Given the description of an element on the screen output the (x, y) to click on. 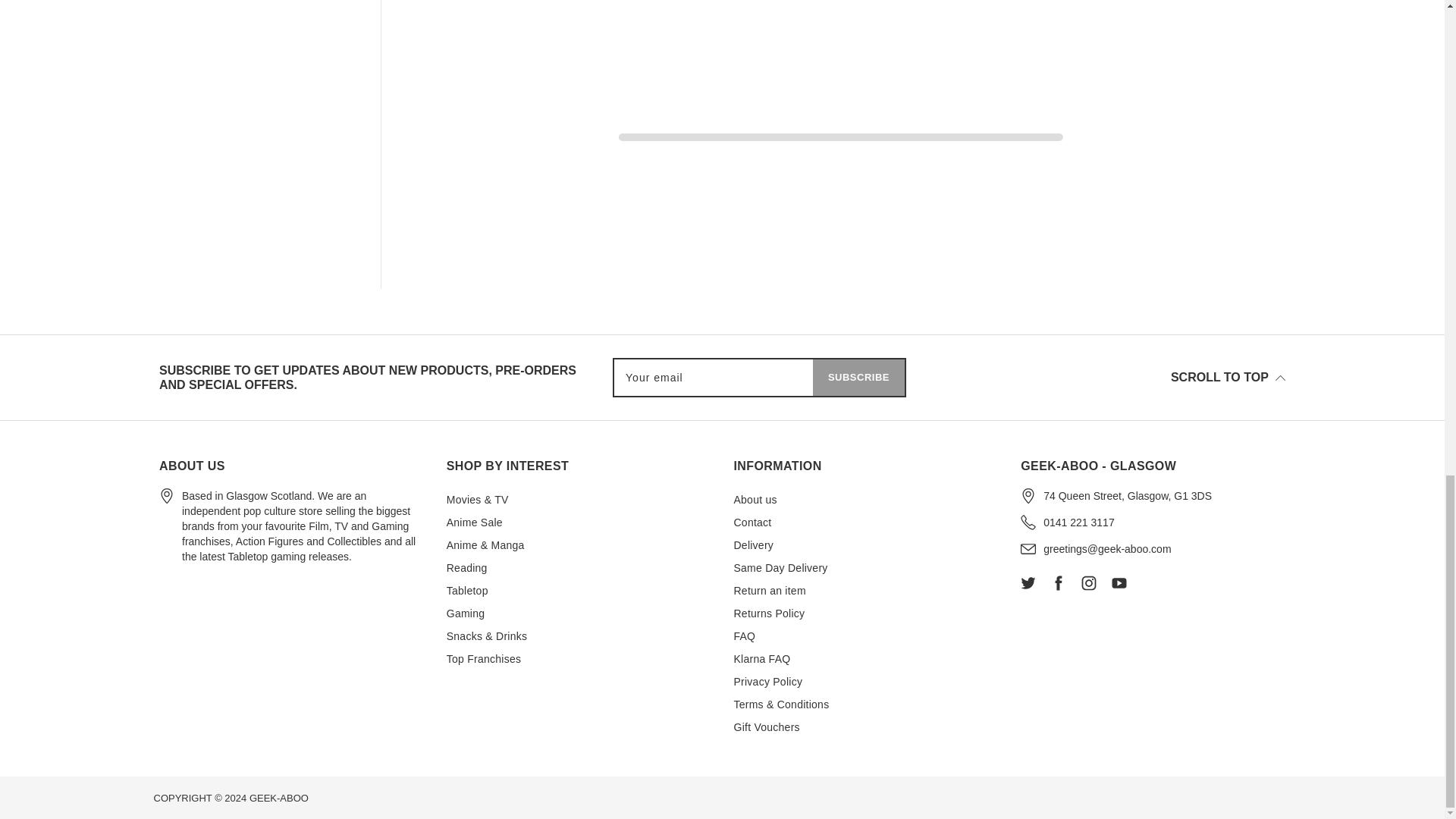
SCROLL TO TOP (1227, 377)
SCROLL TO TOP (1100, 377)
